Given the description of an element on the screen output the (x, y) to click on. 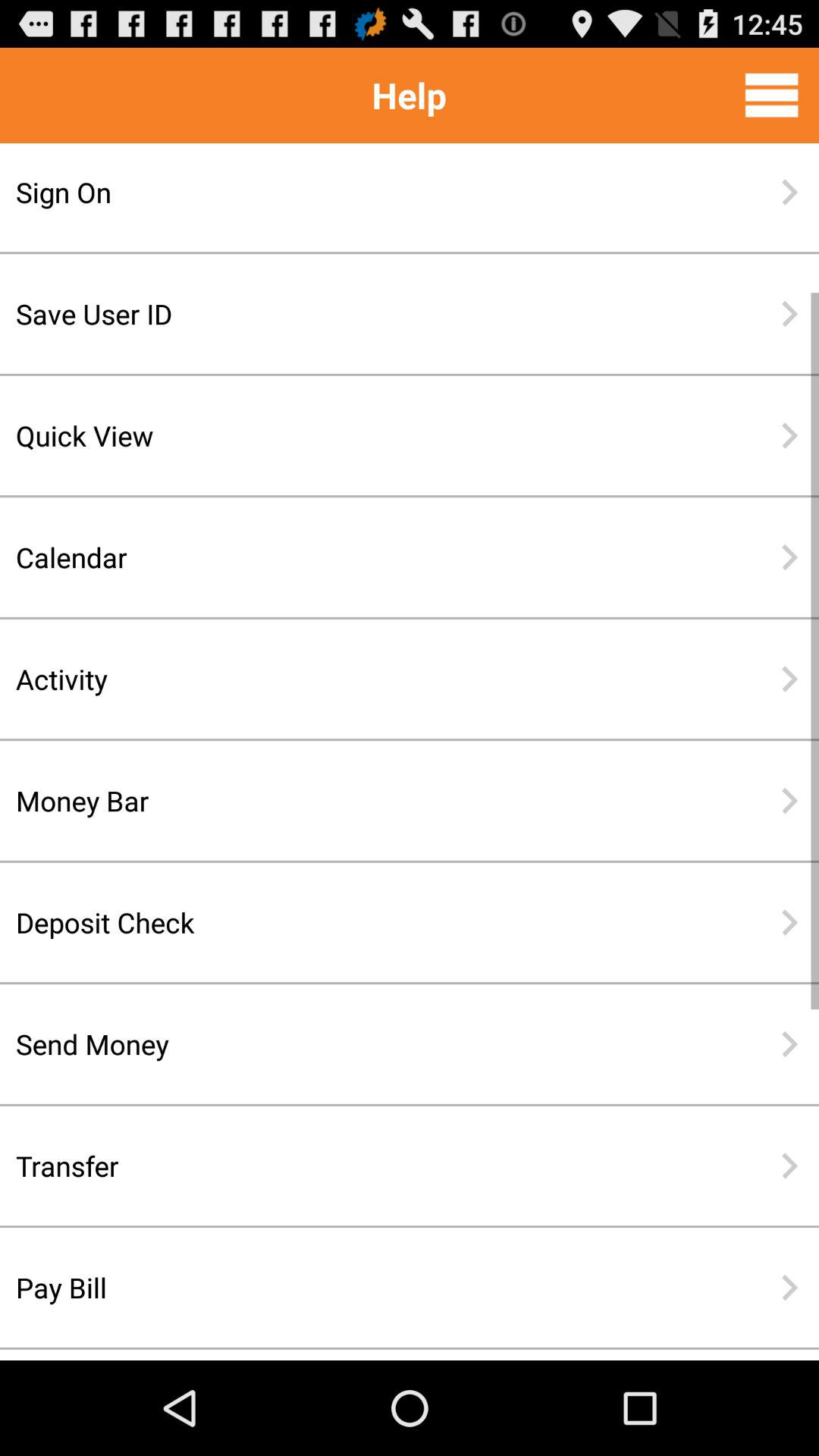
press item below quick view item (359, 557)
